Given the description of an element on the screen output the (x, y) to click on. 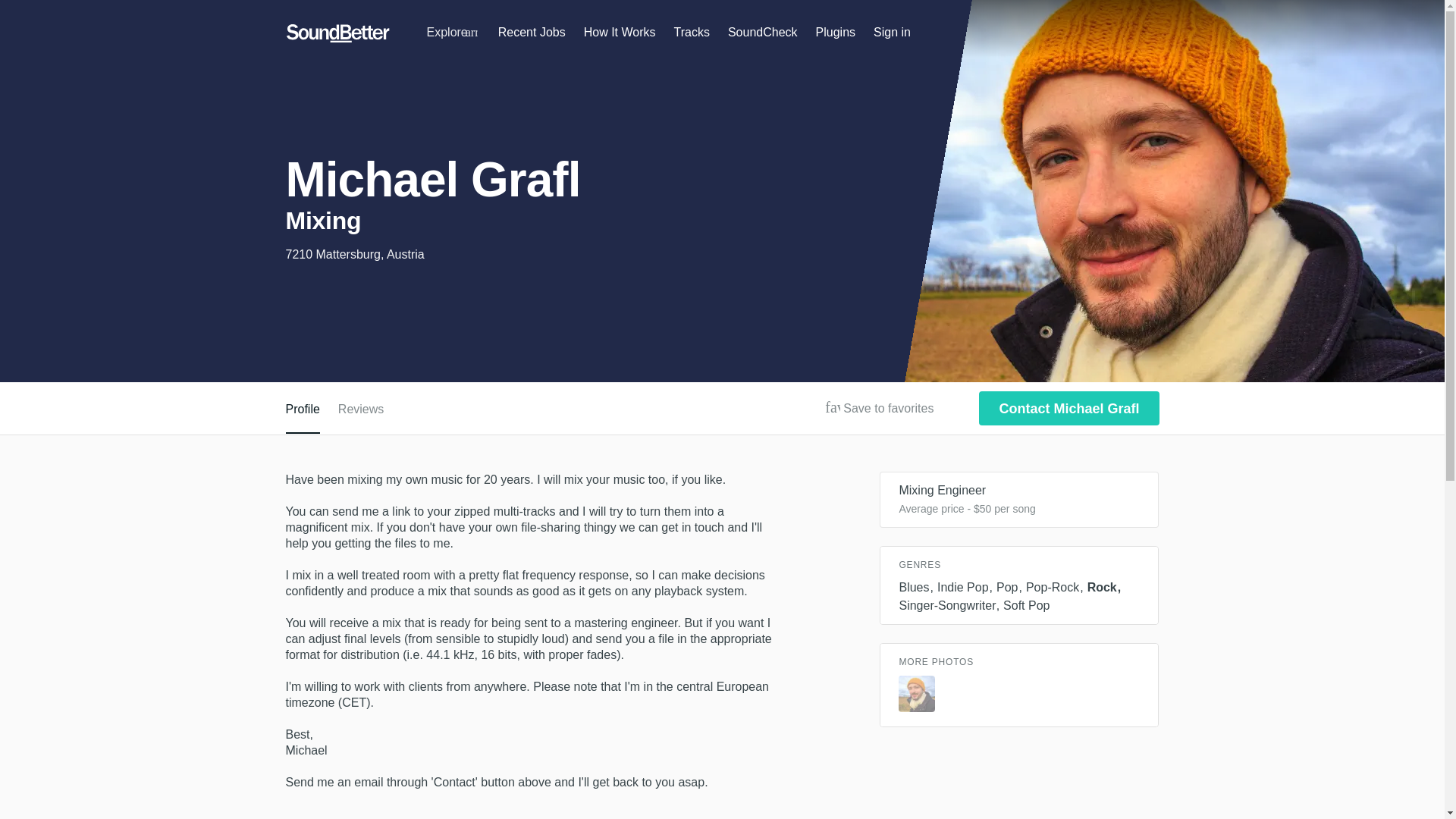
SoundBetter (337, 33)
